Given the description of an element on the screen output the (x, y) to click on. 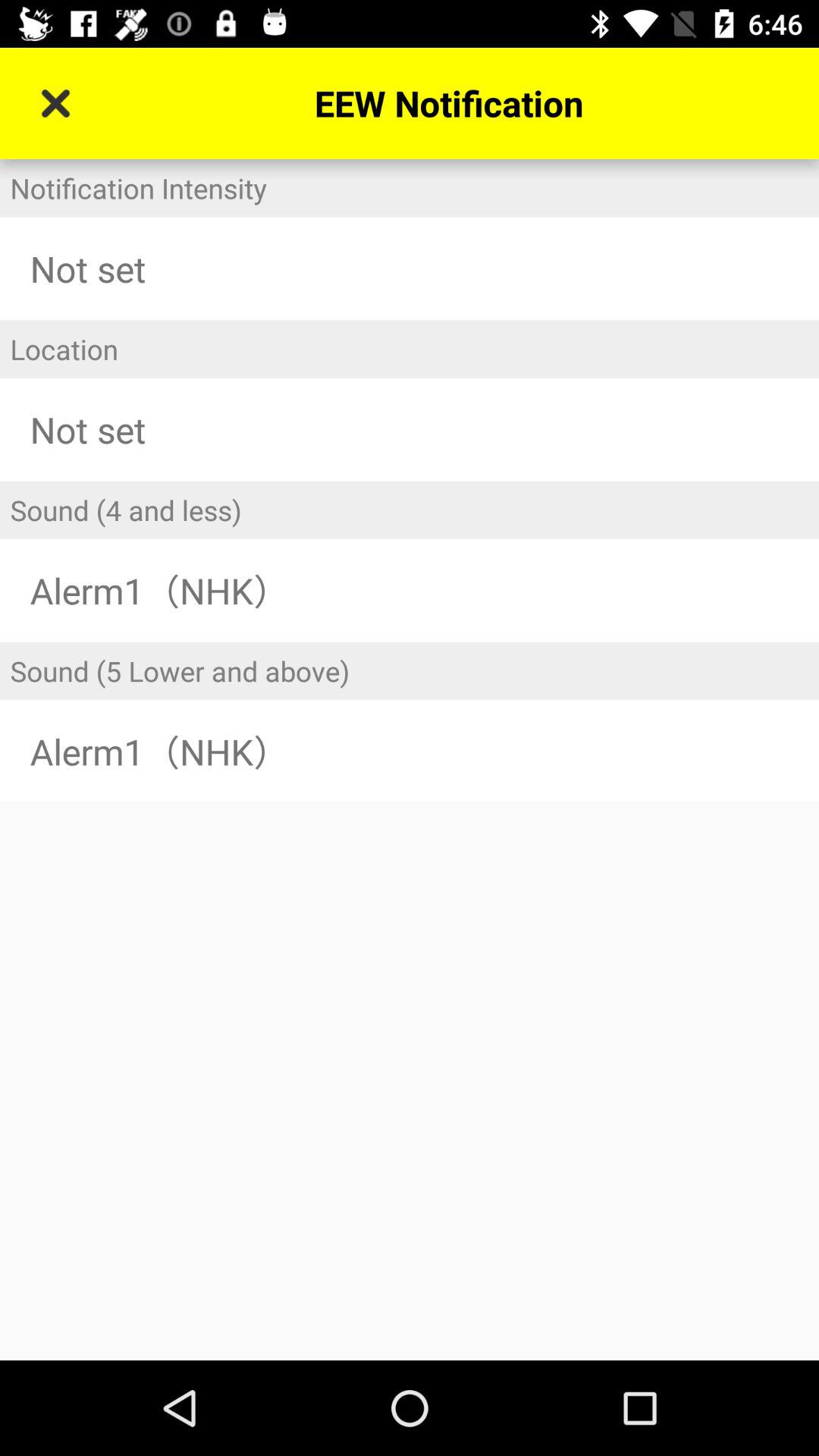
turn on the item above the not set item (409, 188)
